Given the description of an element on the screen output the (x, y) to click on. 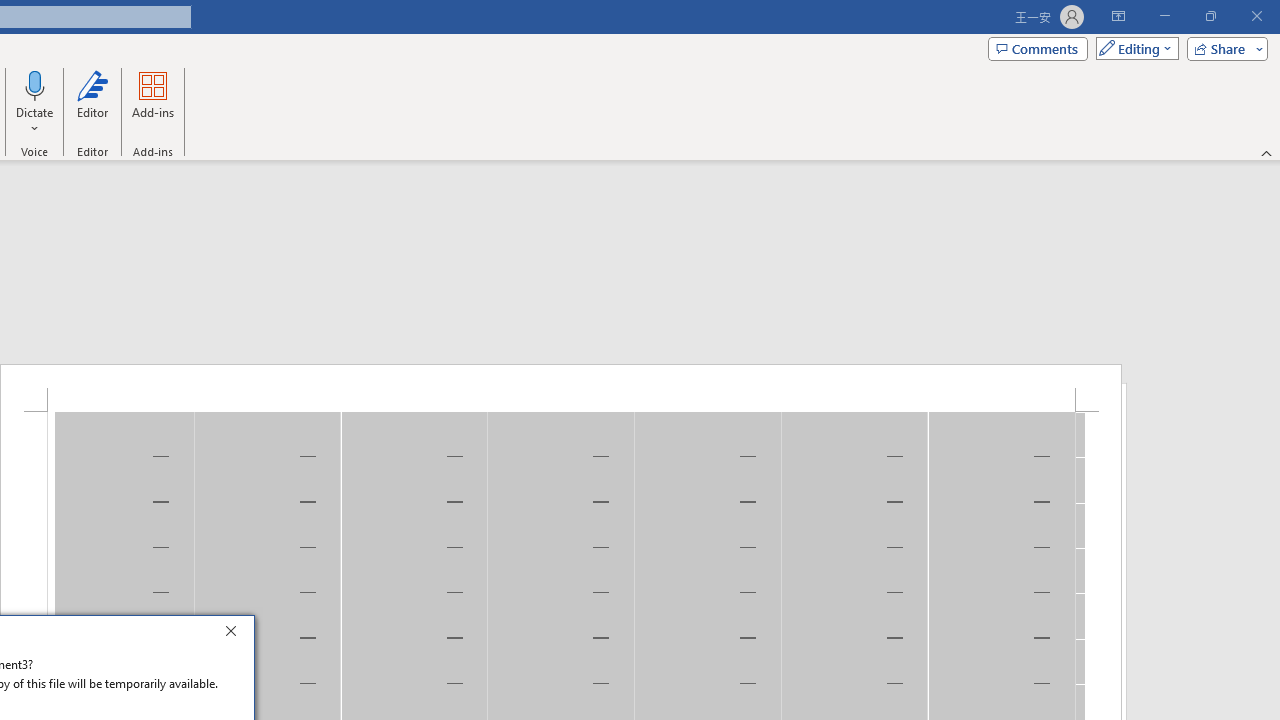
Ribbon Display Options (1118, 16)
